Given the description of an element on the screen output the (x, y) to click on. 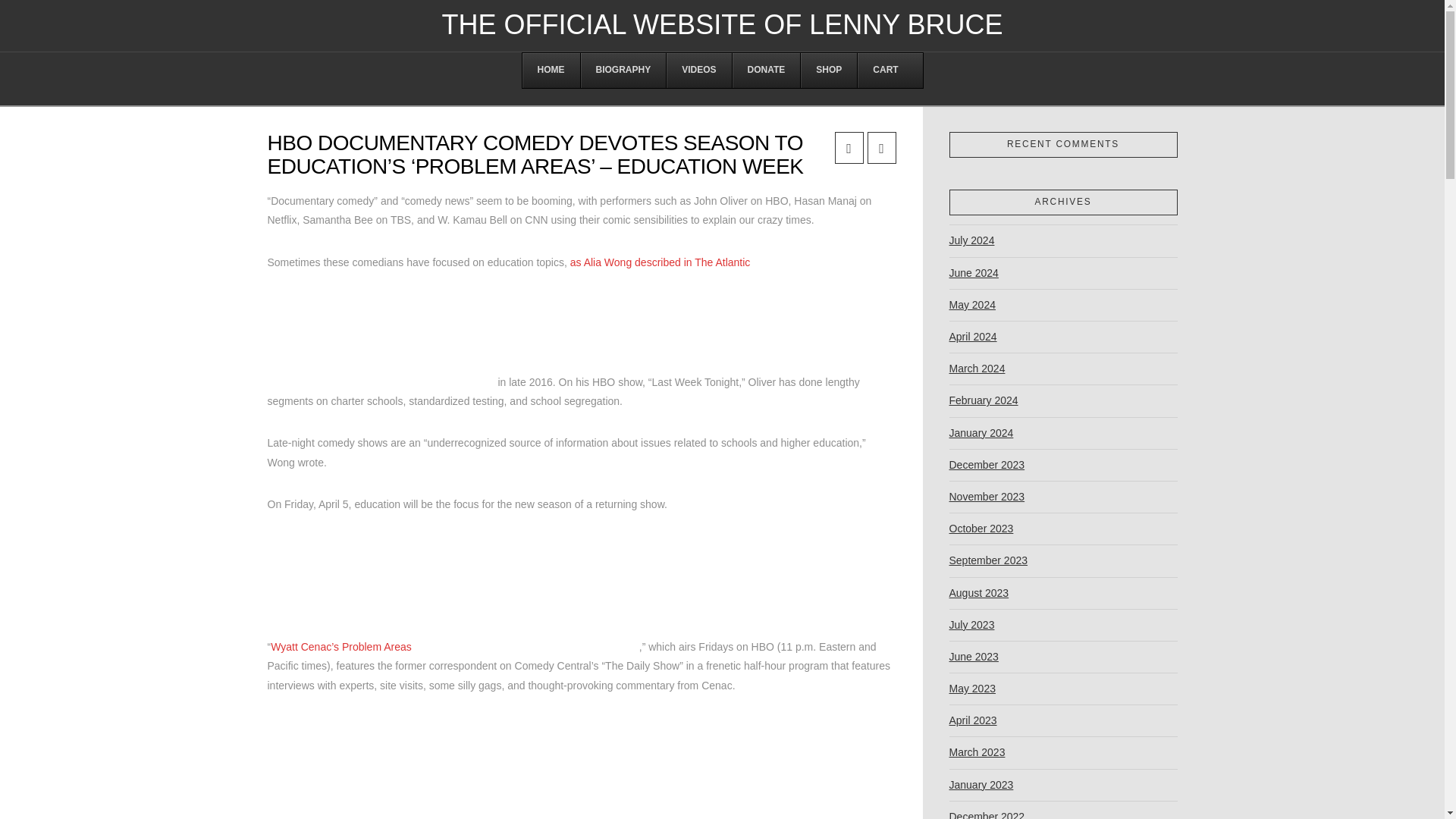
October 2023 (981, 528)
November 2023 (987, 496)
August 2023 (979, 593)
HOME (550, 70)
July 2024 (971, 240)
DONATE (766, 70)
May 2024 (972, 305)
CART (884, 70)
February 2024 (983, 400)
April 2023 (973, 720)
